Given the description of an element on the screen output the (x, y) to click on. 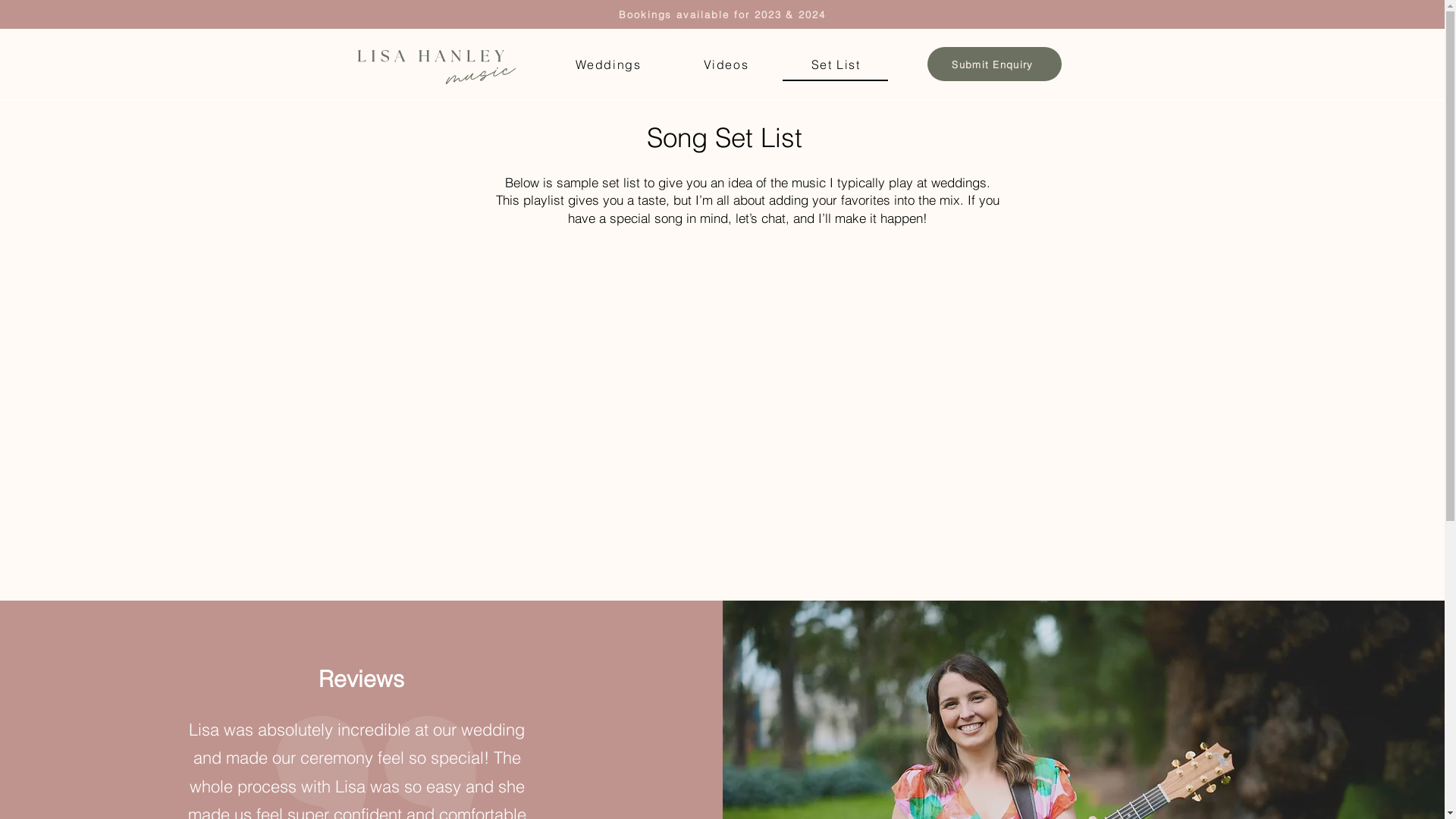
Submit Enquiry Element type: text (993, 64)
Set List Element type: text (835, 65)
Weddings Element type: text (608, 65)
Videos Element type: text (726, 65)
